Given the description of an element on the screen output the (x, y) to click on. 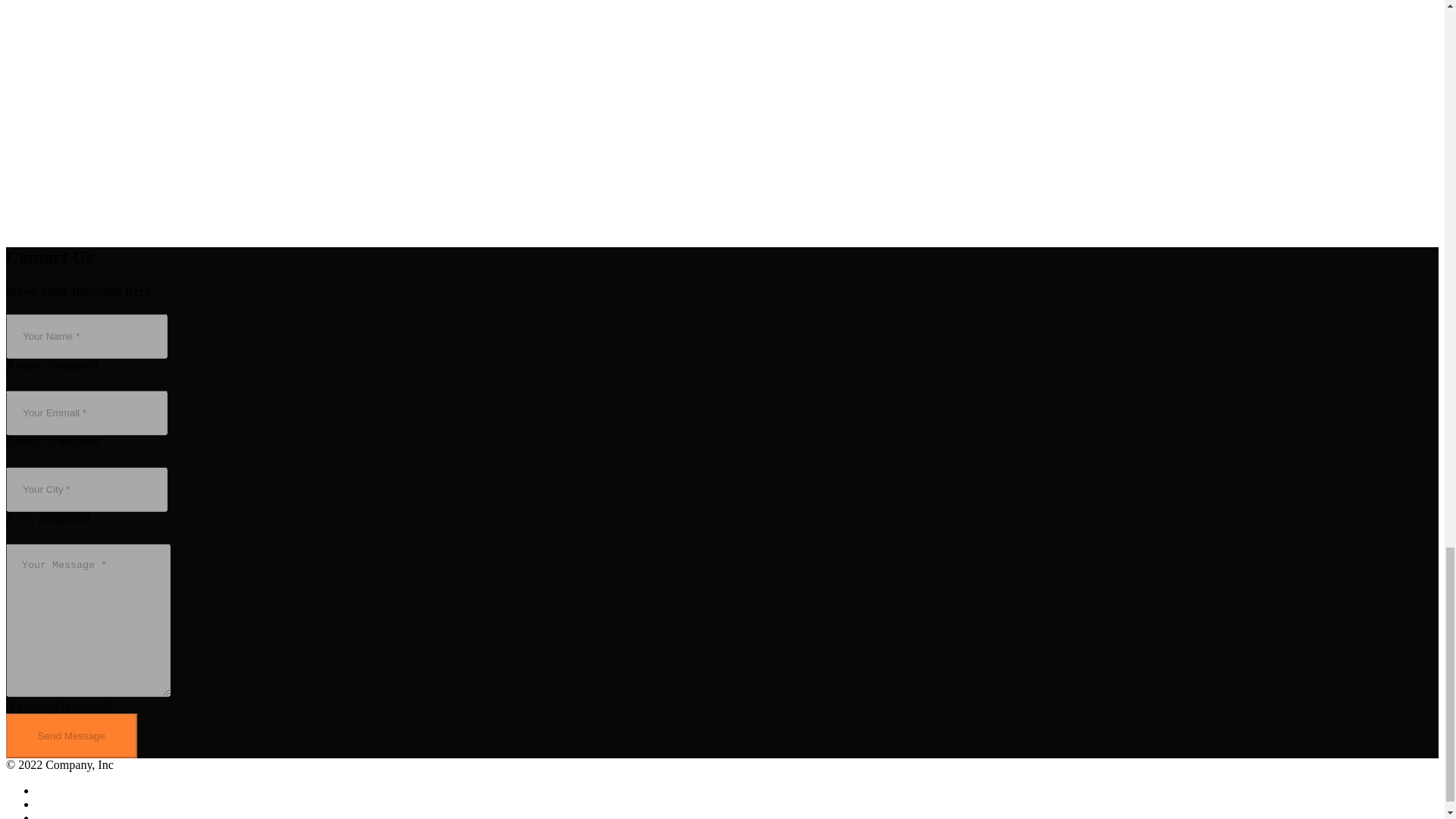
Send Message (70, 735)
